Given the description of an element on the screen output the (x, y) to click on. 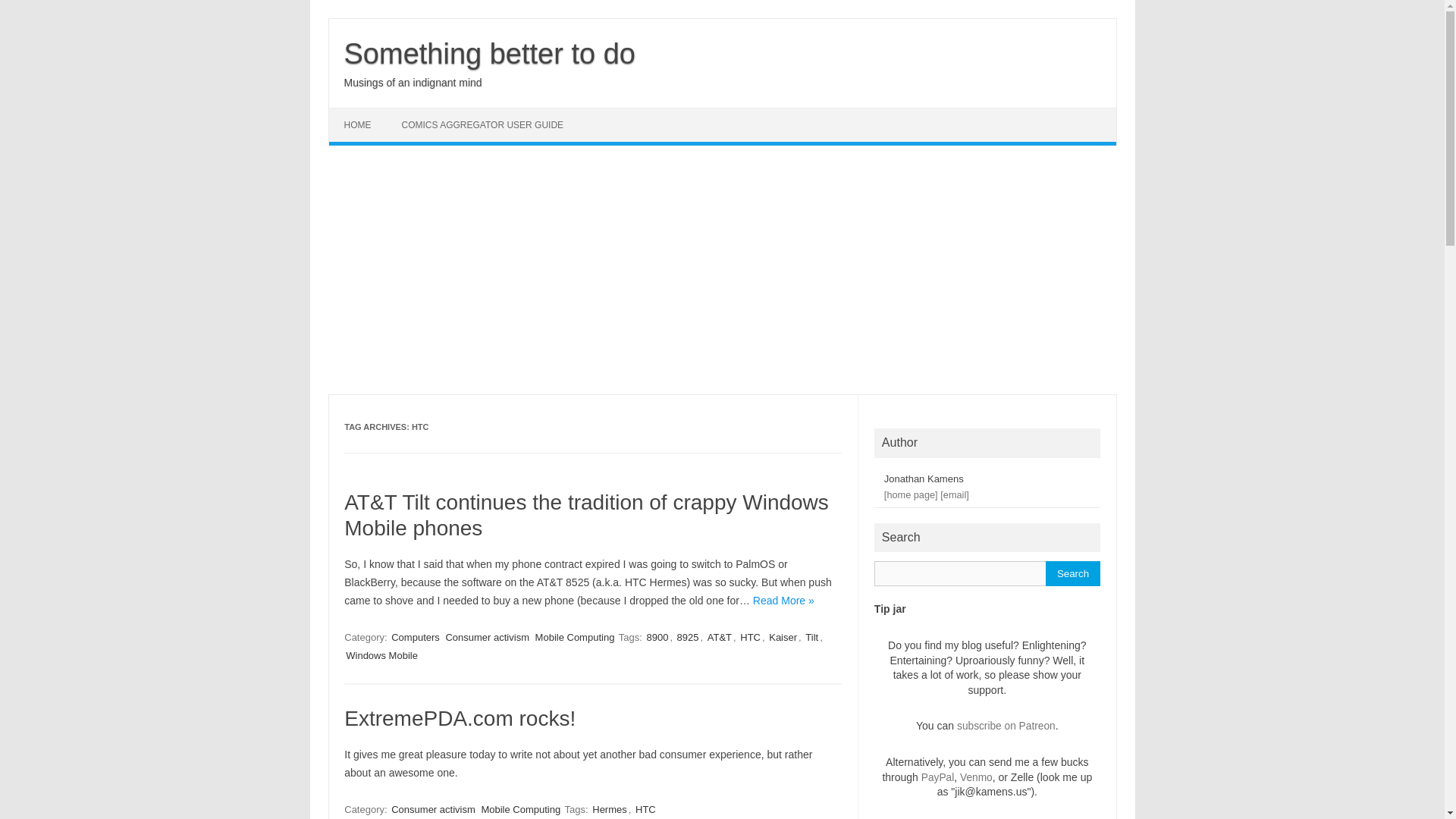
Mobile Computing (520, 809)
Something better to do (488, 53)
Tilt (811, 636)
8900 (657, 636)
Permalink to ExtremePDA.com rocks! (459, 718)
HOME (358, 124)
Kaiser (782, 636)
Windows Mobile (381, 655)
